Given the description of an element on the screen output the (x, y) to click on. 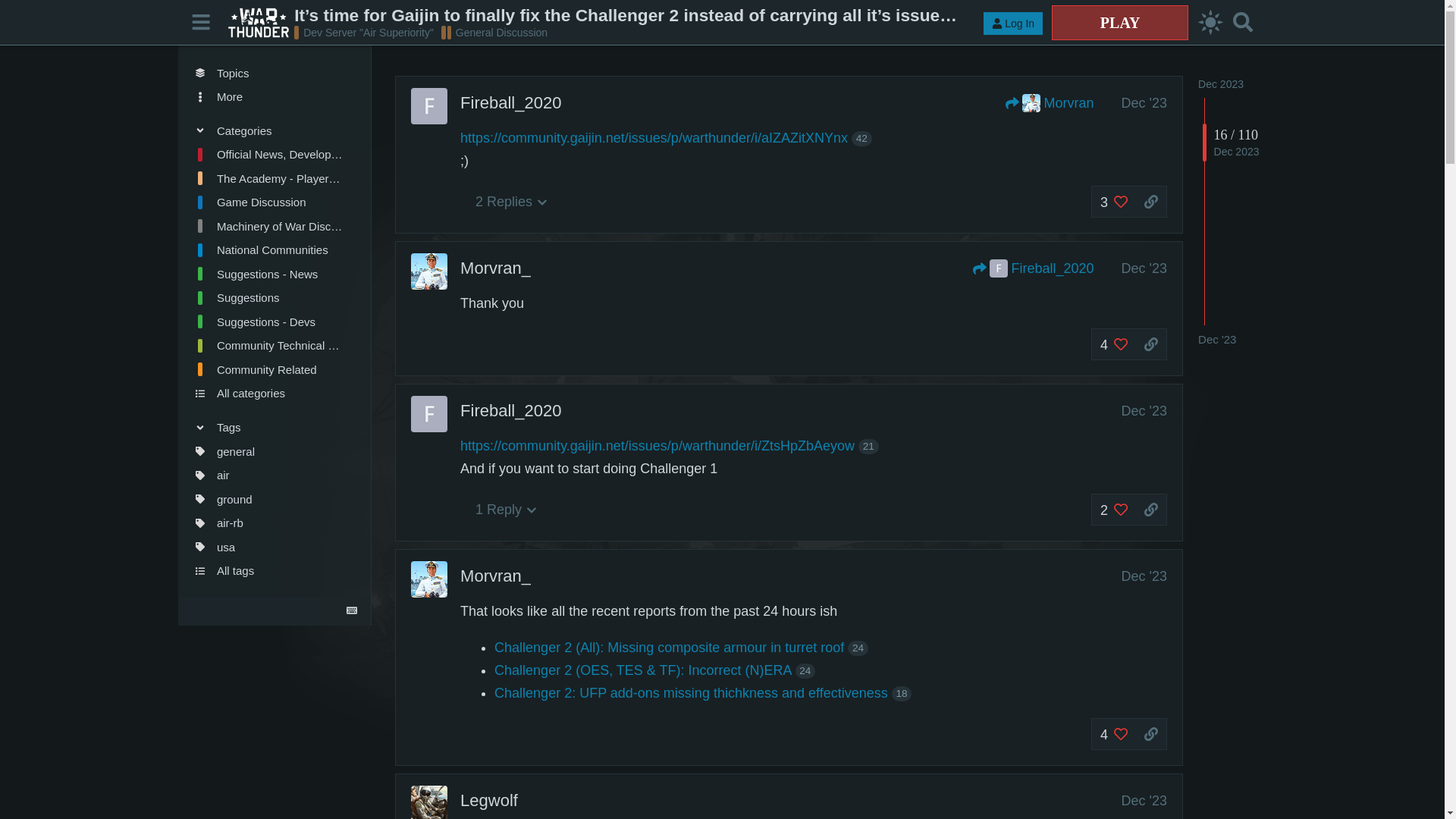
Hide sidebar (201, 21)
General Discussion (494, 32)
PLAY (1119, 22)
Suggestions - News (268, 274)
Machinery of War Discussion (268, 225)
Morvran (1050, 102)
ground (268, 498)
Tags (269, 426)
Log In (1013, 23)
Community Technical Support (268, 345)
All topics (268, 72)
The Academy - Players helping Players (268, 178)
Suggestions (268, 297)
Dec '23 (1144, 102)
Toggle color scheme (1210, 22)
